Given the description of an element on the screen output the (x, y) to click on. 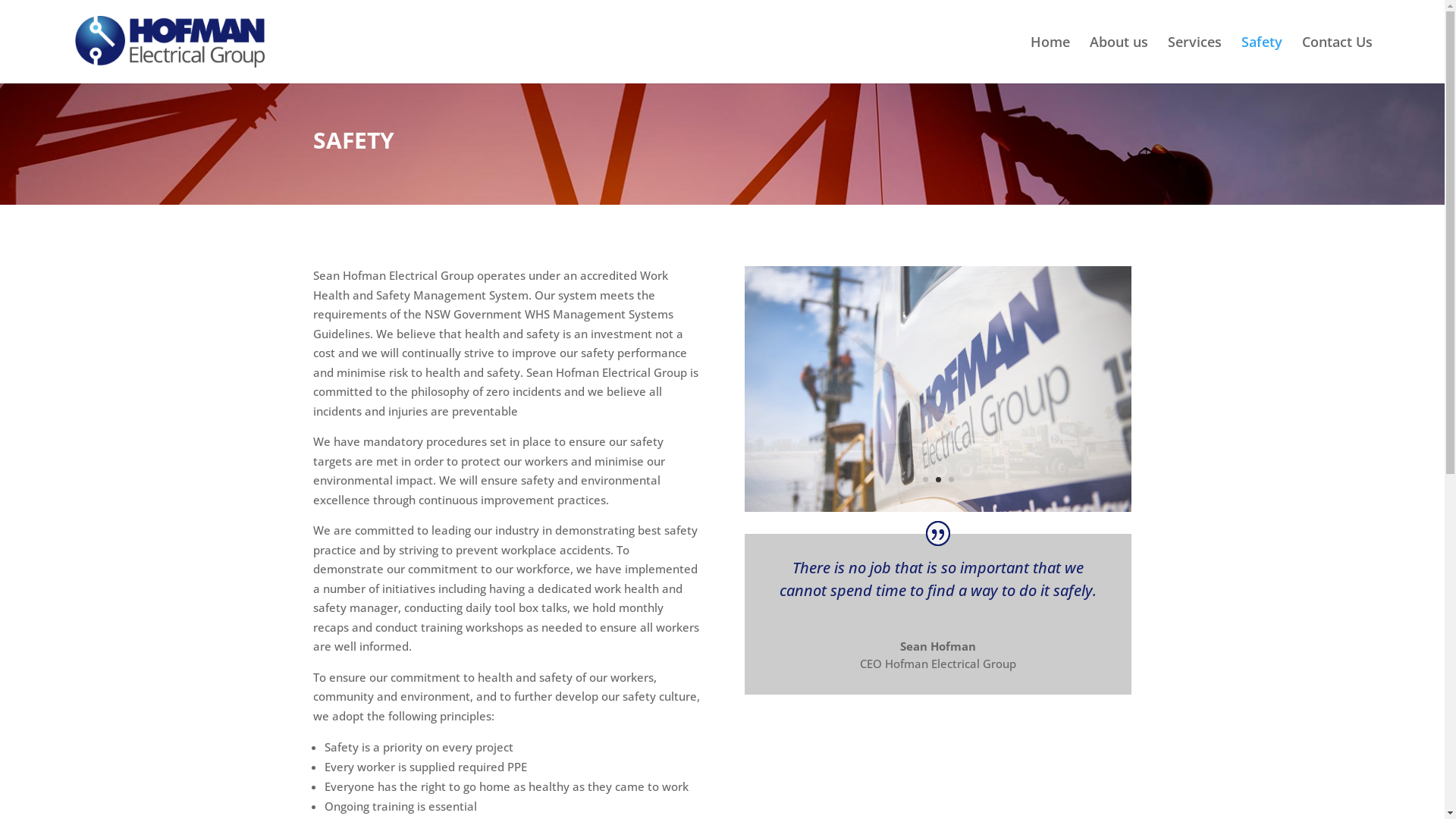
Home Element type: text (1050, 59)
Services Element type: text (1194, 59)
1 Element type: text (925, 479)
Safety Element type: text (1261, 59)
hofman-truck Element type: hover (937, 506)
2 Element type: text (938, 479)
3 Element type: text (950, 479)
About us Element type: text (1118, 59)
Contact Us Element type: text (1337, 59)
